Given the description of an element on the screen output the (x, y) to click on. 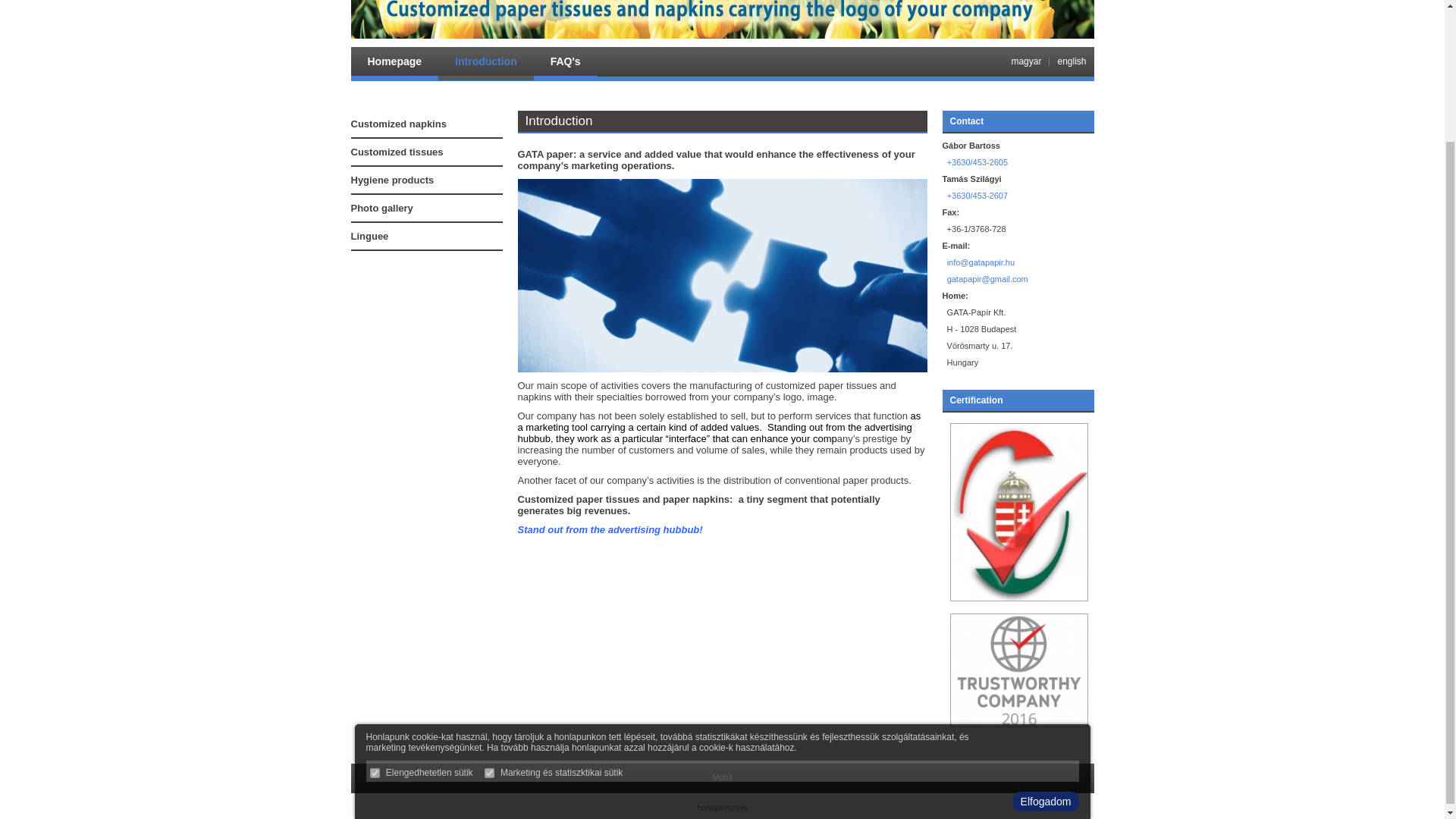
Elfogadom (1045, 639)
Elfogadom (1045, 639)
Mobil (721, 777)
Customized napkins (426, 124)
Introduction (486, 63)
Homepage (394, 63)
Trustworthy Company (1018, 723)
Homepage (394, 63)
Photo gallery (426, 208)
Certification (976, 399)
magyar (1025, 61)
Customized napkins (426, 124)
Customized tissues (426, 152)
Linguee (426, 236)
Linguee (426, 236)
